Given the description of an element on the screen output the (x, y) to click on. 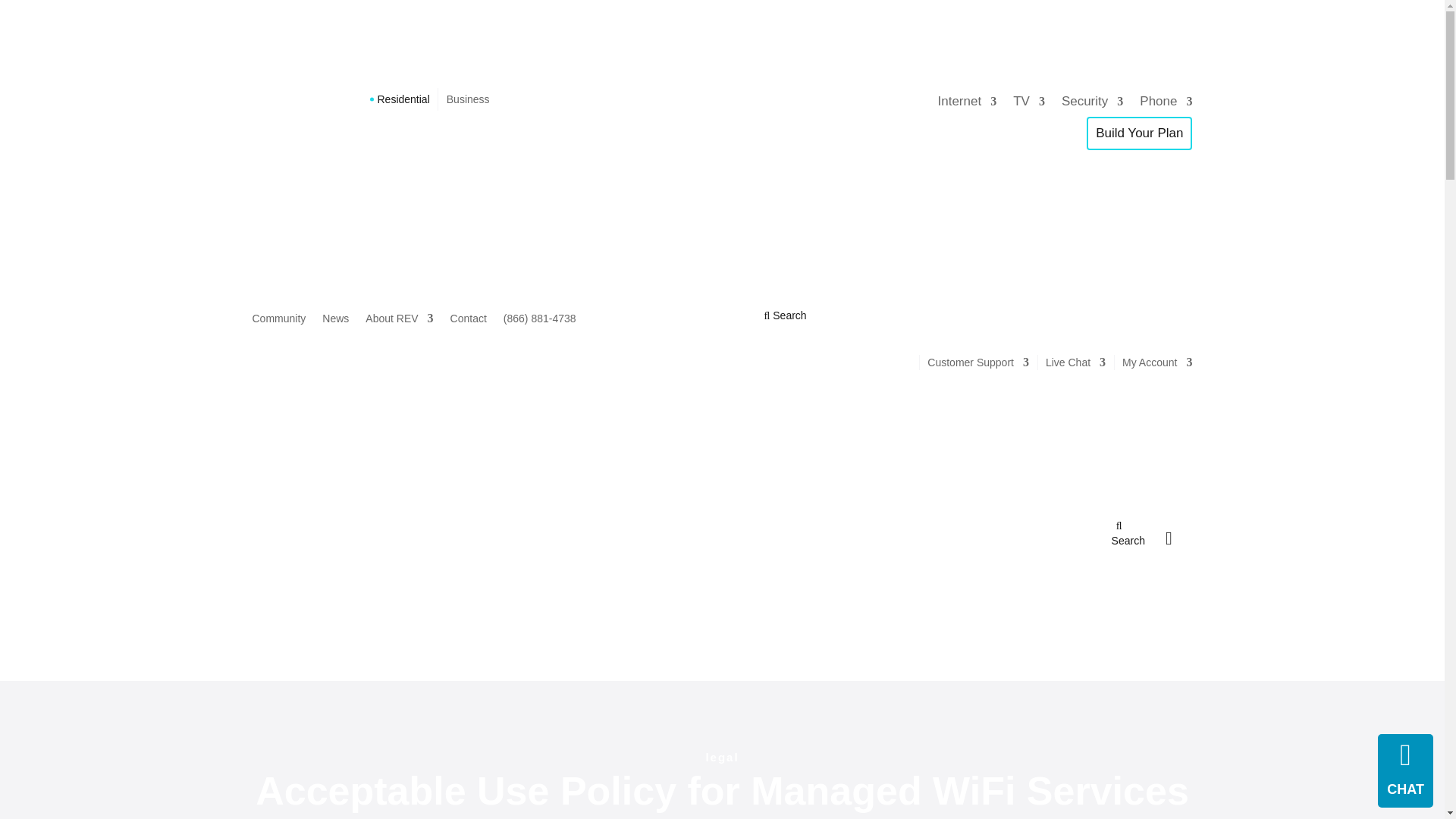
News (335, 321)
Phone (1166, 101)
About REV (398, 321)
Community (278, 321)
Security (1091, 101)
Build Your Plan (1139, 133)
TV (1029, 101)
Residential (403, 98)
Search (785, 315)
Contact (467, 321)
